Given the description of an element on the screen output the (x, y) to click on. 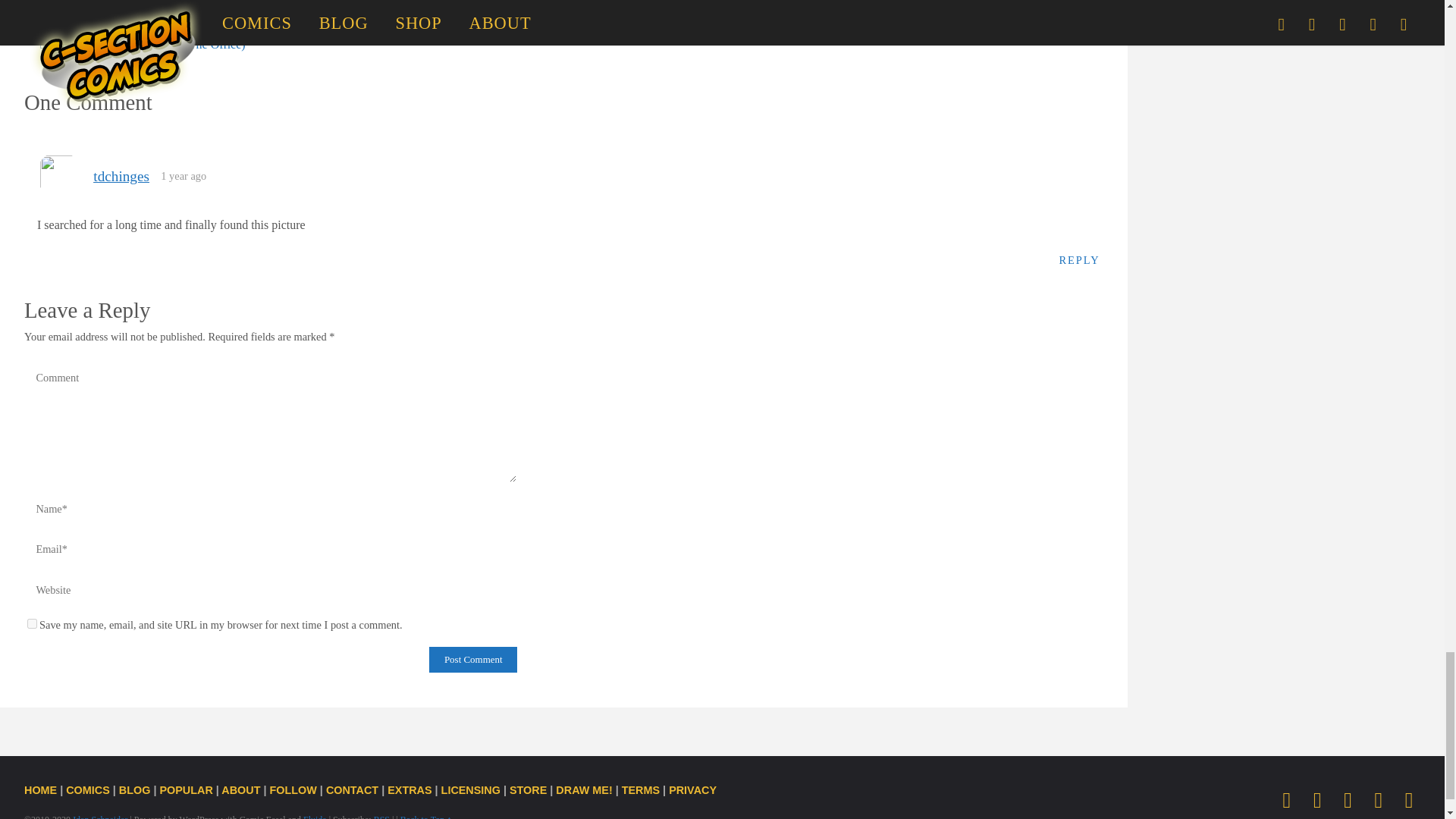
yes (32, 623)
Post Comment (472, 659)
Post Comment (472, 659)
tdchinges (121, 176)
REPLY (1079, 259)
1 year ago (183, 175)
